Given the description of an element on the screen output the (x, y) to click on. 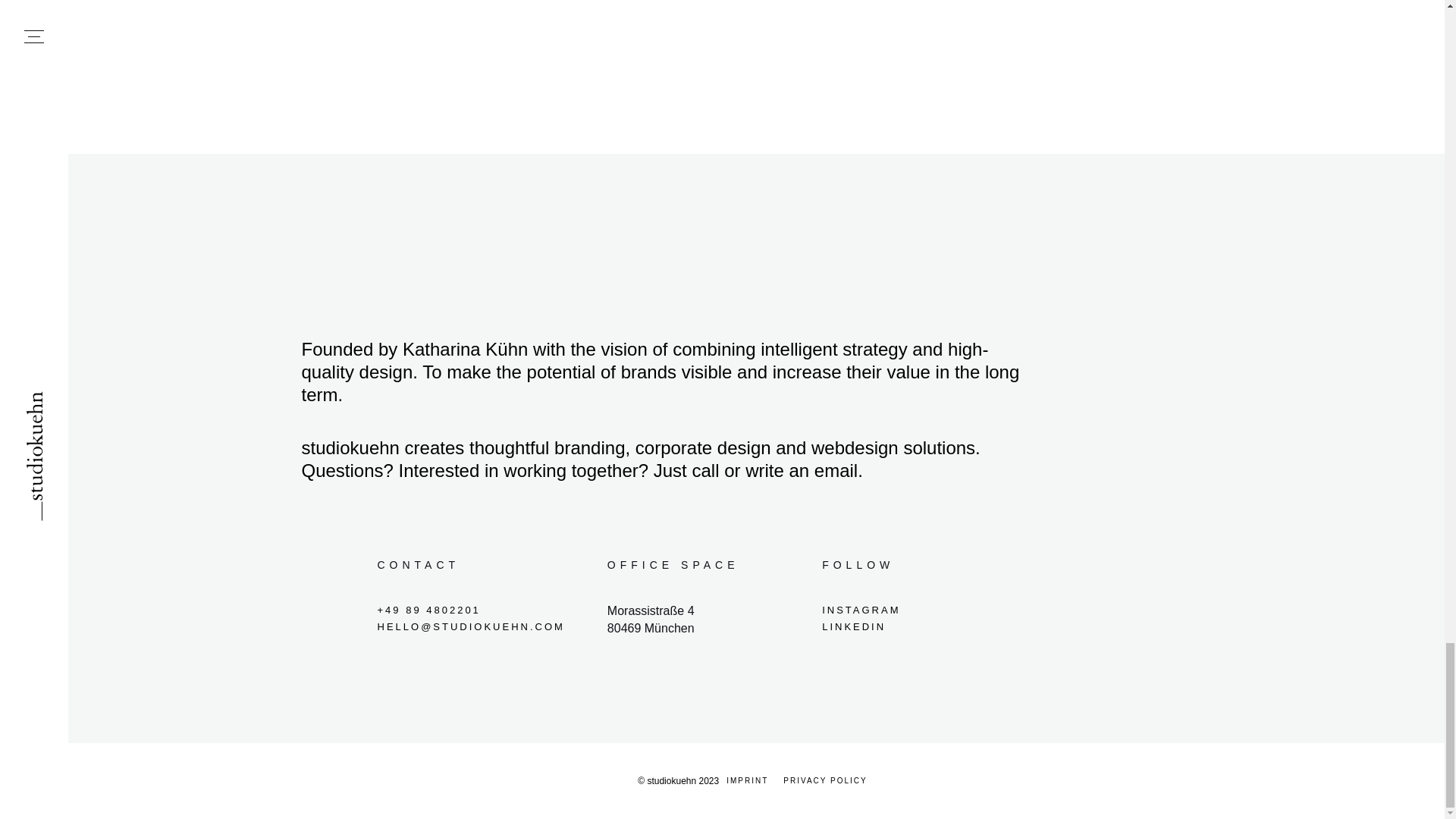
INSTAGRAM (925, 610)
PRIVACY POLICY (825, 780)
LINKEDIN (925, 627)
IMPRINT (747, 780)
